Given the description of an element on the screen output the (x, y) to click on. 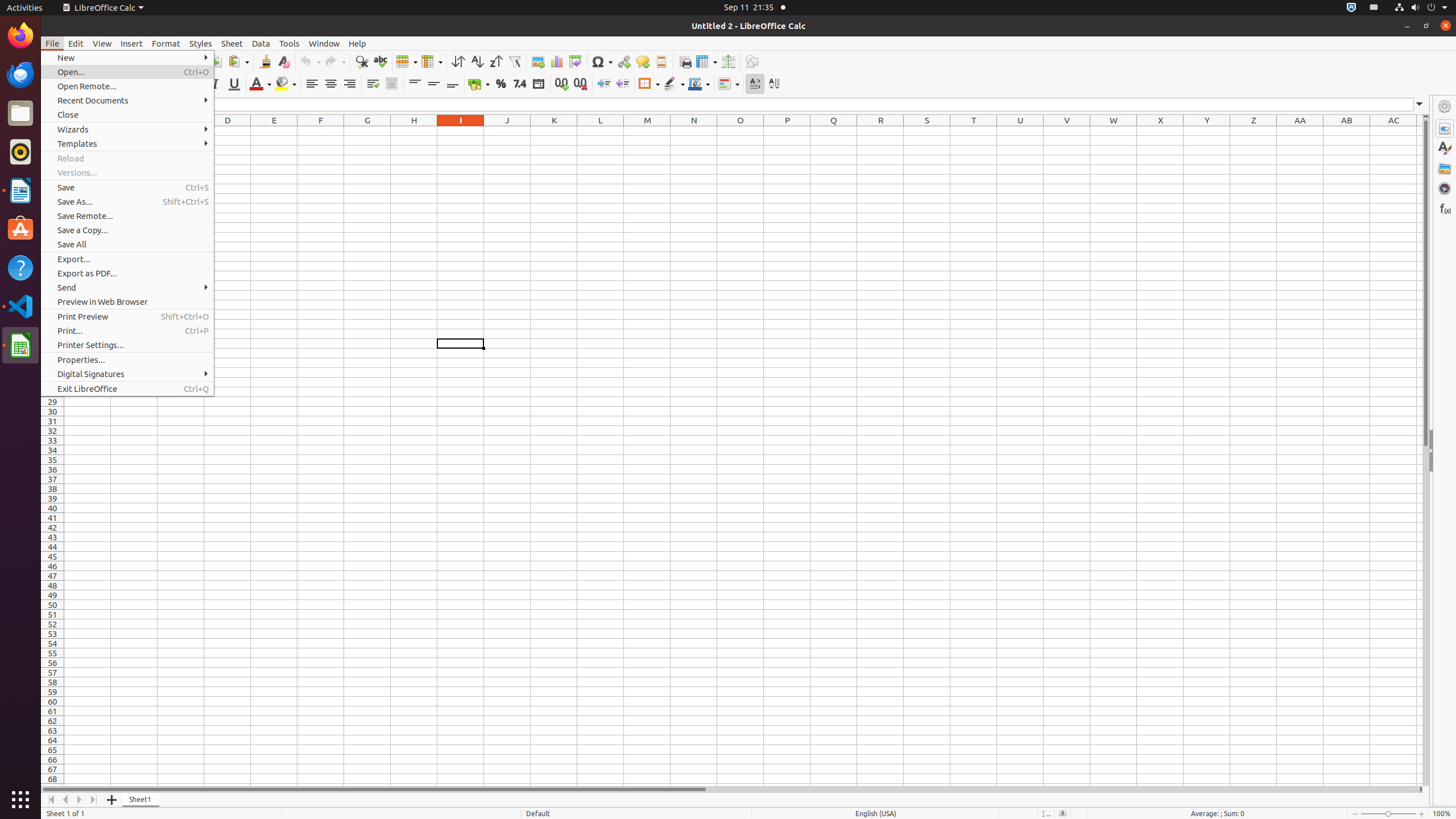
H1 Element type: table-cell (413, 130)
Printer Settings... Element type: menu-item (126, 344)
Open... Element type: menu-item (126, 71)
Save As... Element type: menu-item (126, 201)
Align Bottom Element type: push-button (452, 83)
